Given the description of an element on the screen output the (x, y) to click on. 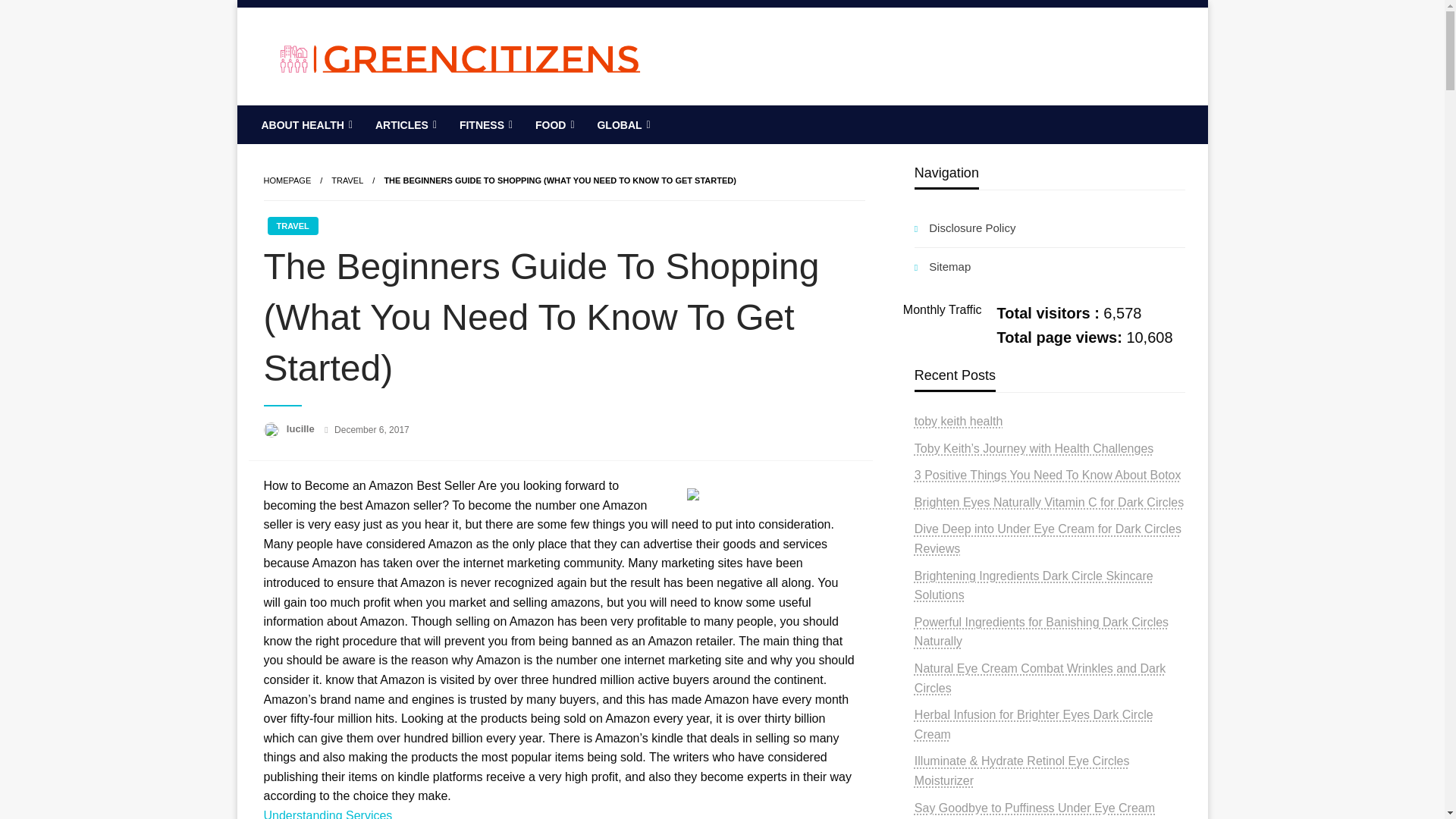
Travel (346, 180)
Homepage (287, 180)
TRAVEL (291, 226)
December 6, 2017 (371, 429)
lucille (301, 428)
ARTICLES (404, 125)
lucille (301, 428)
greencitizens (352, 117)
Understanding Services (328, 814)
FOOD (552, 125)
ABOUT HEALTH (305, 125)
TRAVEL (346, 180)
GLOBAL (621, 125)
HOMEPAGE (287, 180)
